Given the description of an element on the screen output the (x, y) to click on. 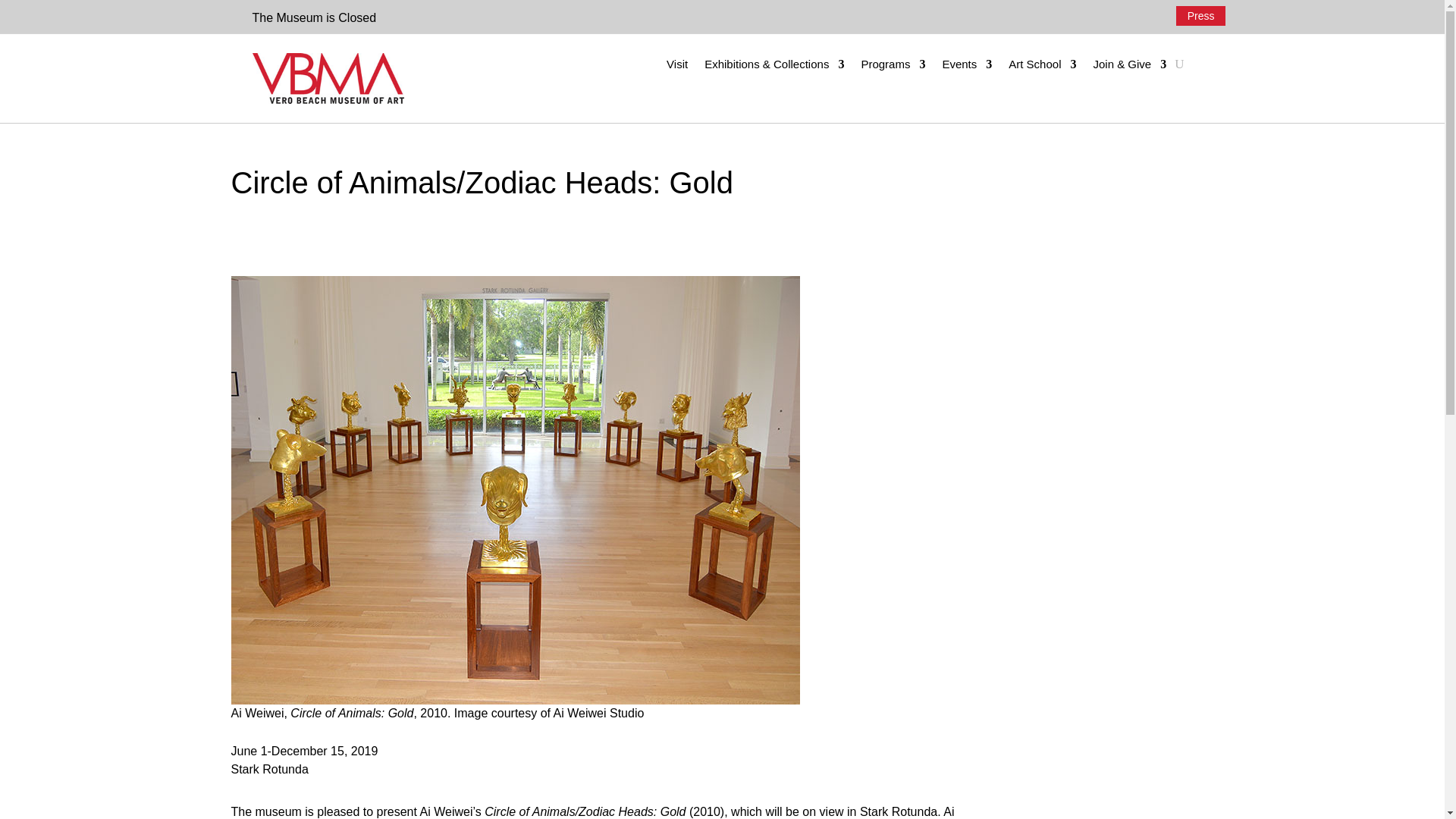
Art School (1042, 67)
Press (1200, 15)
Vero Beach Museum of Art (327, 78)
Events (966, 67)
Visit (676, 67)
Programs (892, 67)
